Given the description of an element on the screen output the (x, y) to click on. 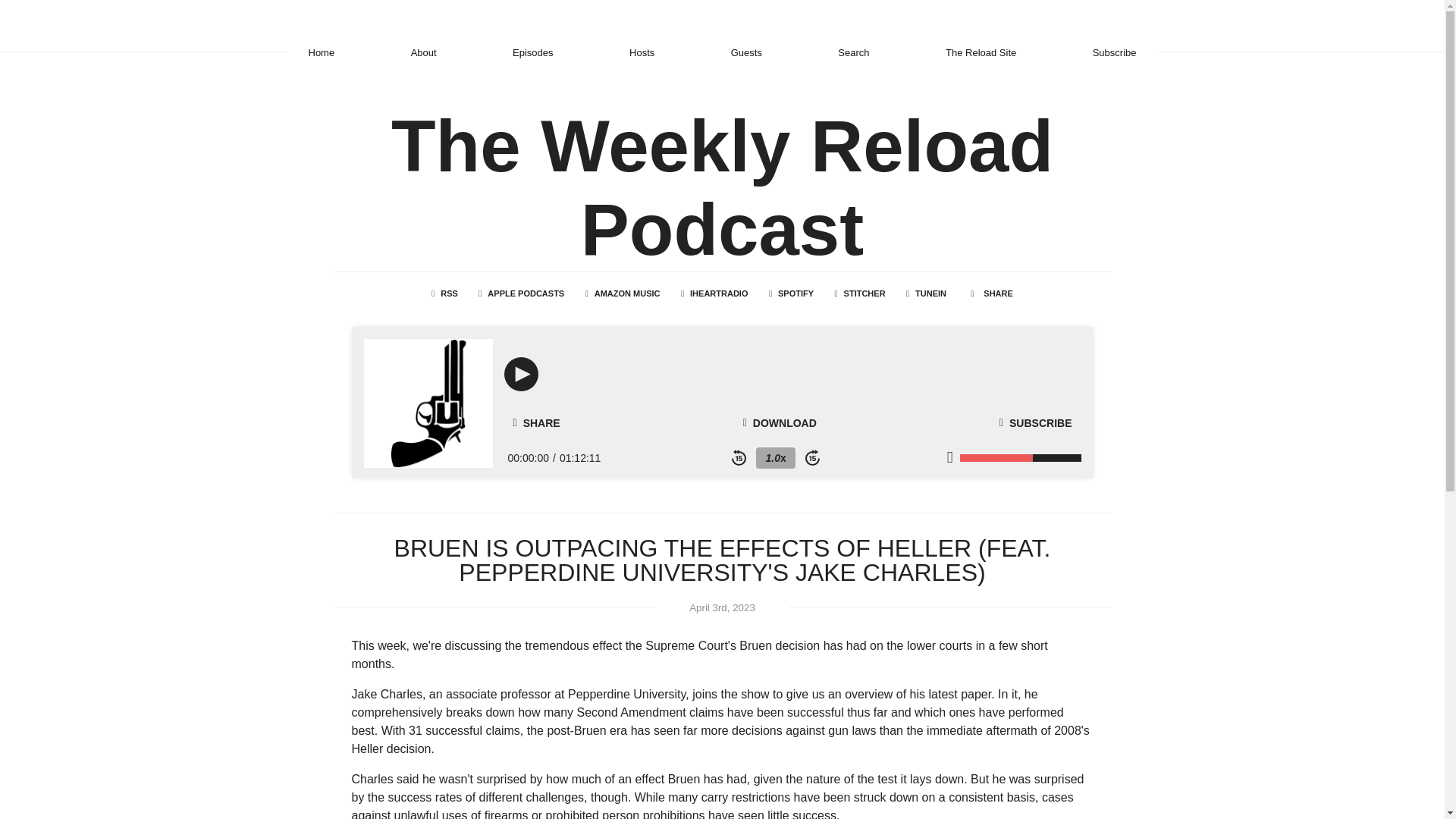
The Reload Site (980, 52)
Episodes (532, 52)
Home (320, 52)
DOWNLOAD (779, 422)
SHARE (536, 422)
APPLE PODCASTS (521, 293)
SPOTIFY (791, 293)
Guests (745, 52)
Search (853, 52)
IHEARTRADIO (713, 293)
